Given the description of an element on the screen output the (x, y) to click on. 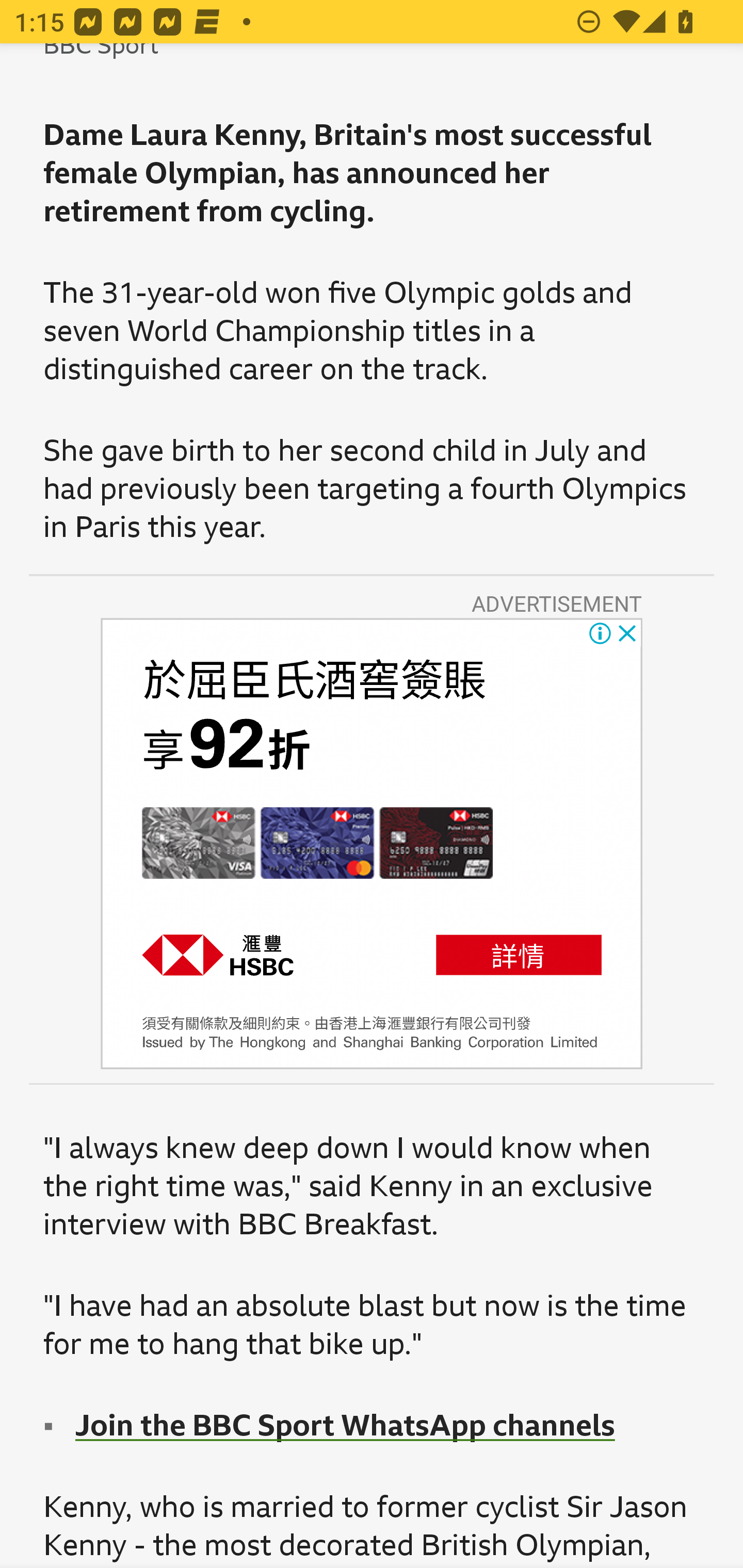
300x250 (371, 843)
